Given the description of an element on the screen output the (x, y) to click on. 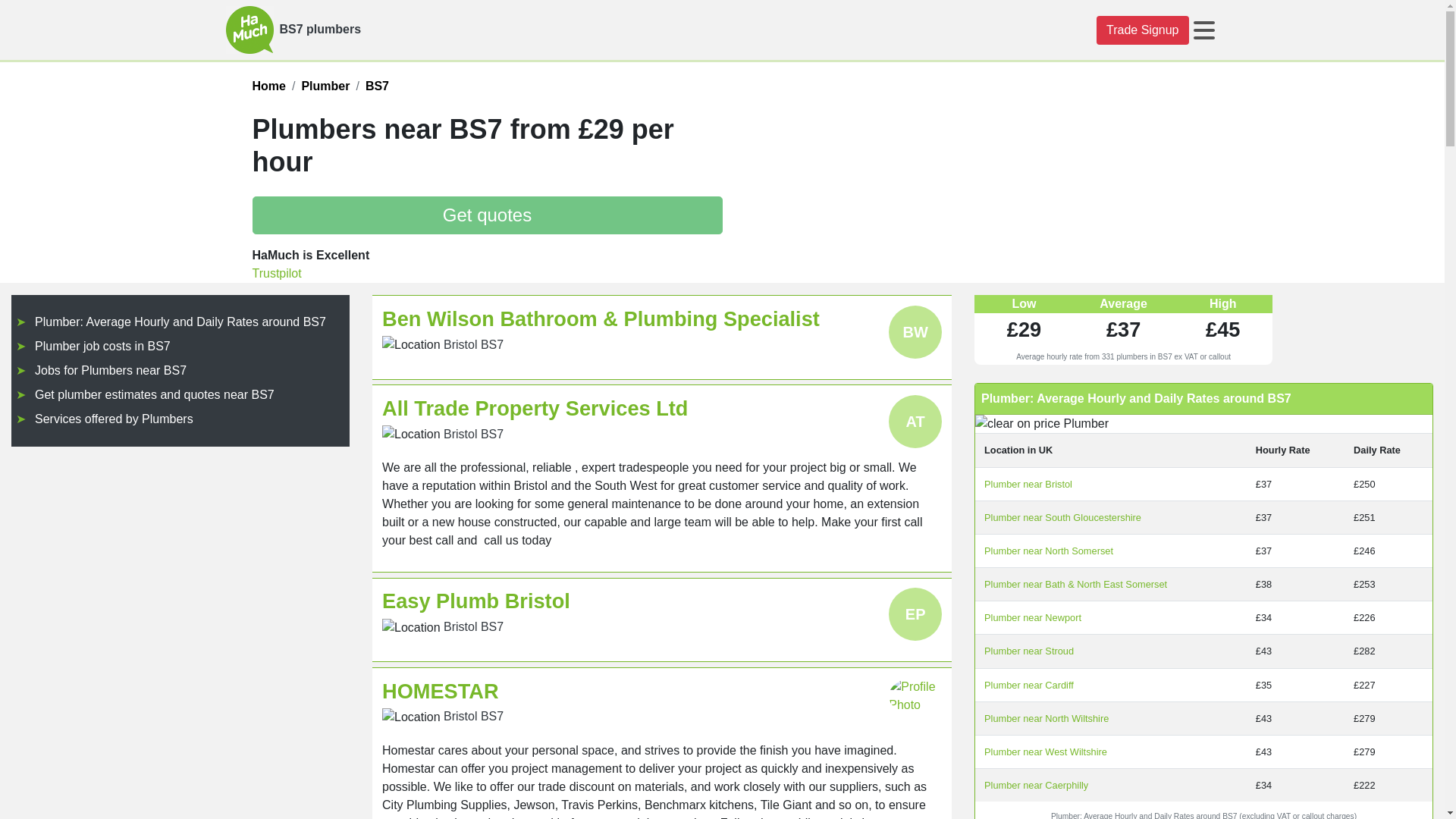
Bristol BS7 (473, 716)
Plumber (325, 85)
Find affordable Plumbers (325, 85)
Easy Plumb Bristol (475, 600)
Plumber: Average Hourly and Daily Rates around BS7 (180, 321)
Trade Signup (1142, 29)
Services offered by Plumbers (113, 418)
Bristol BS7 (473, 344)
Get plumber estimates and quotes near BS7 (154, 394)
Jobs for Plumbers near BS7 (110, 369)
